Given the description of an element on the screen output the (x, y) to click on. 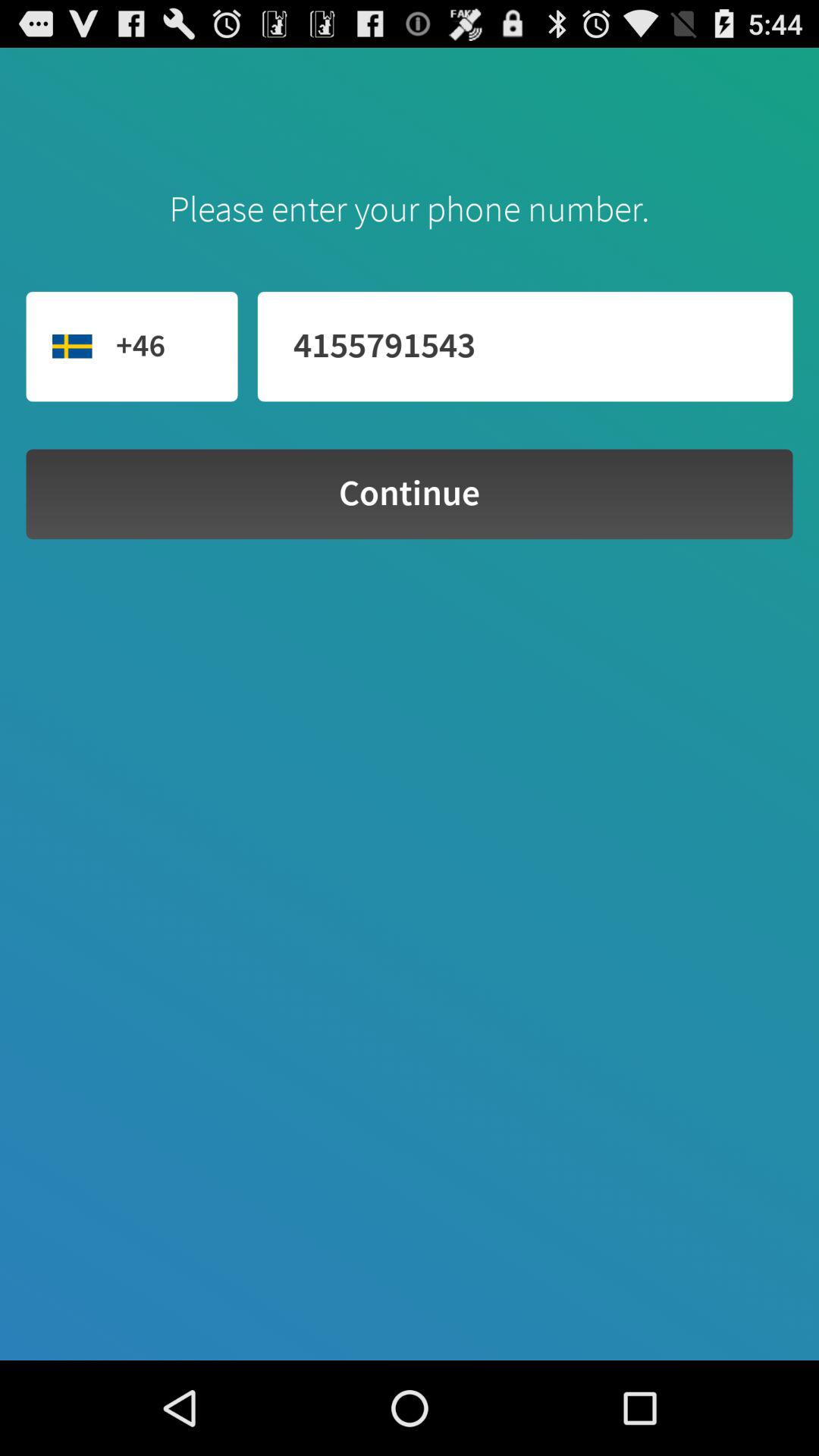
choose 4155791543 icon (524, 346)
